Given the description of an element on the screen output the (x, y) to click on. 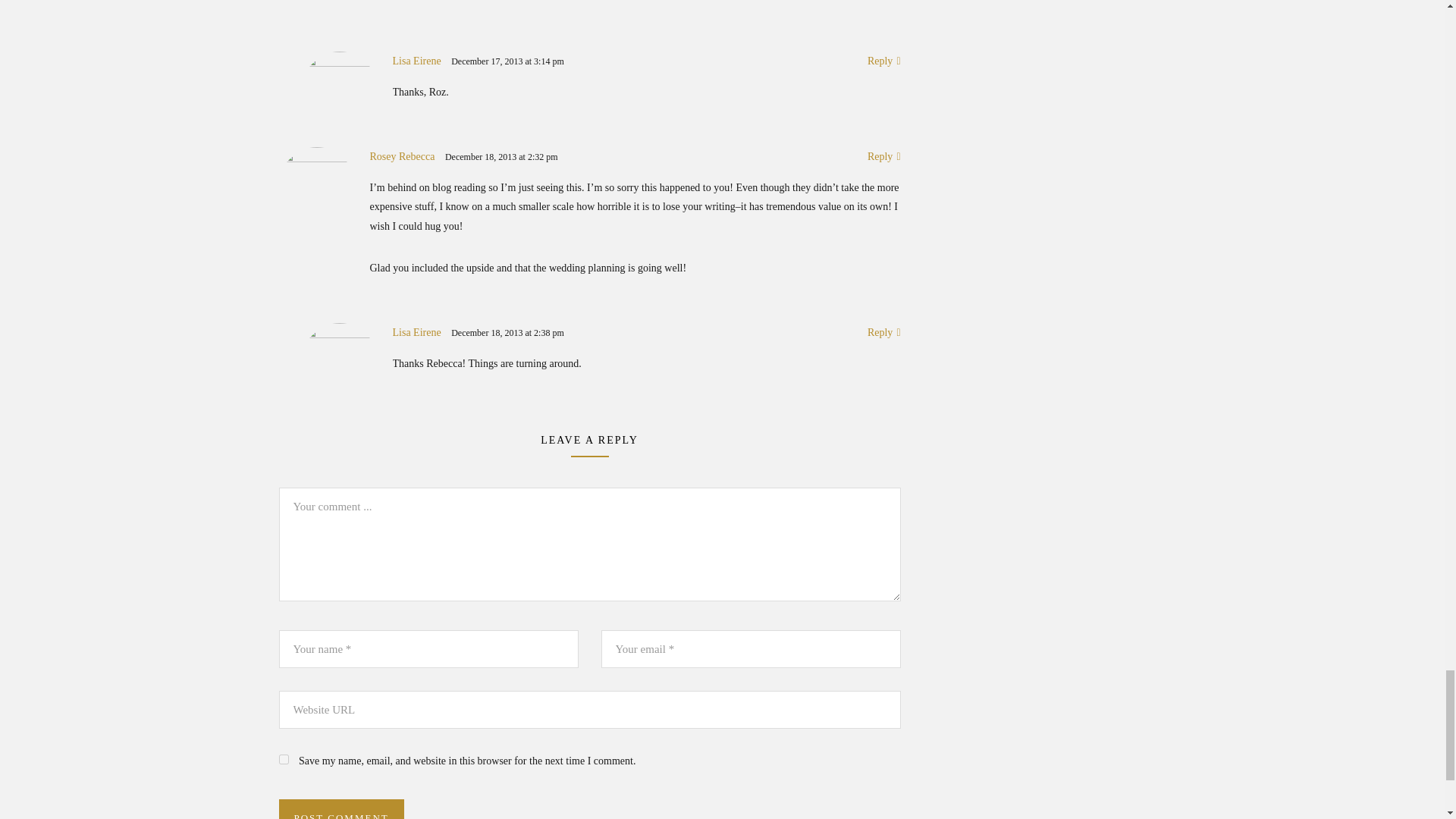
yes (283, 759)
Post Comment (341, 809)
